Given the description of an element on the screen output the (x, y) to click on. 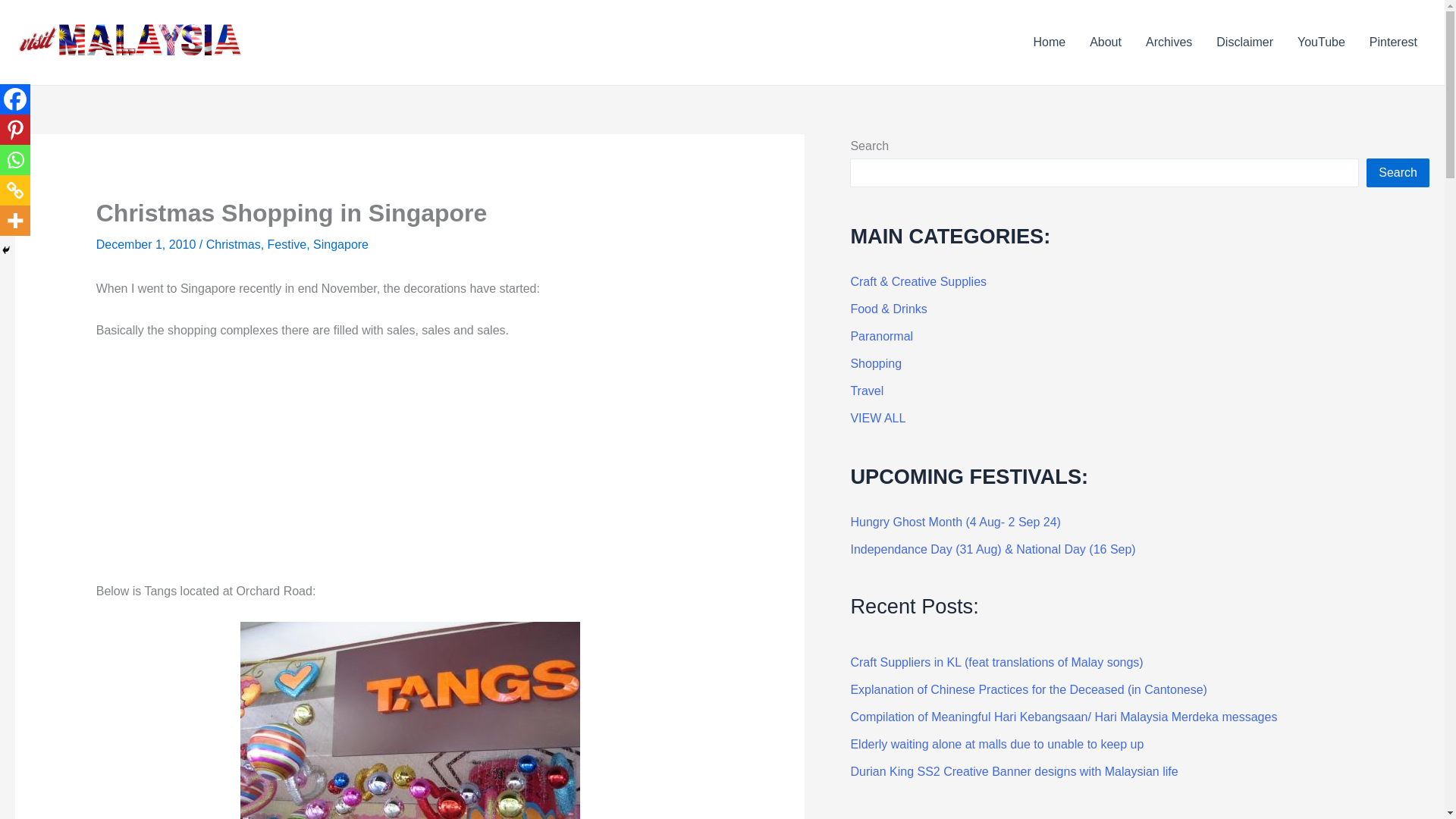
Home (1048, 42)
Facebook (15, 99)
Disclaimer (1244, 42)
Festive (287, 244)
Singapore (340, 244)
About (1105, 42)
XmasSporeTangs1 (409, 720)
Whatsapp (15, 159)
Pinterest (1392, 42)
Archives (1169, 42)
Advertisement (409, 467)
Pinterest (15, 129)
YouTube (1320, 42)
Copy Link (15, 190)
Christmas (233, 244)
